Given the description of an element on the screen output the (x, y) to click on. 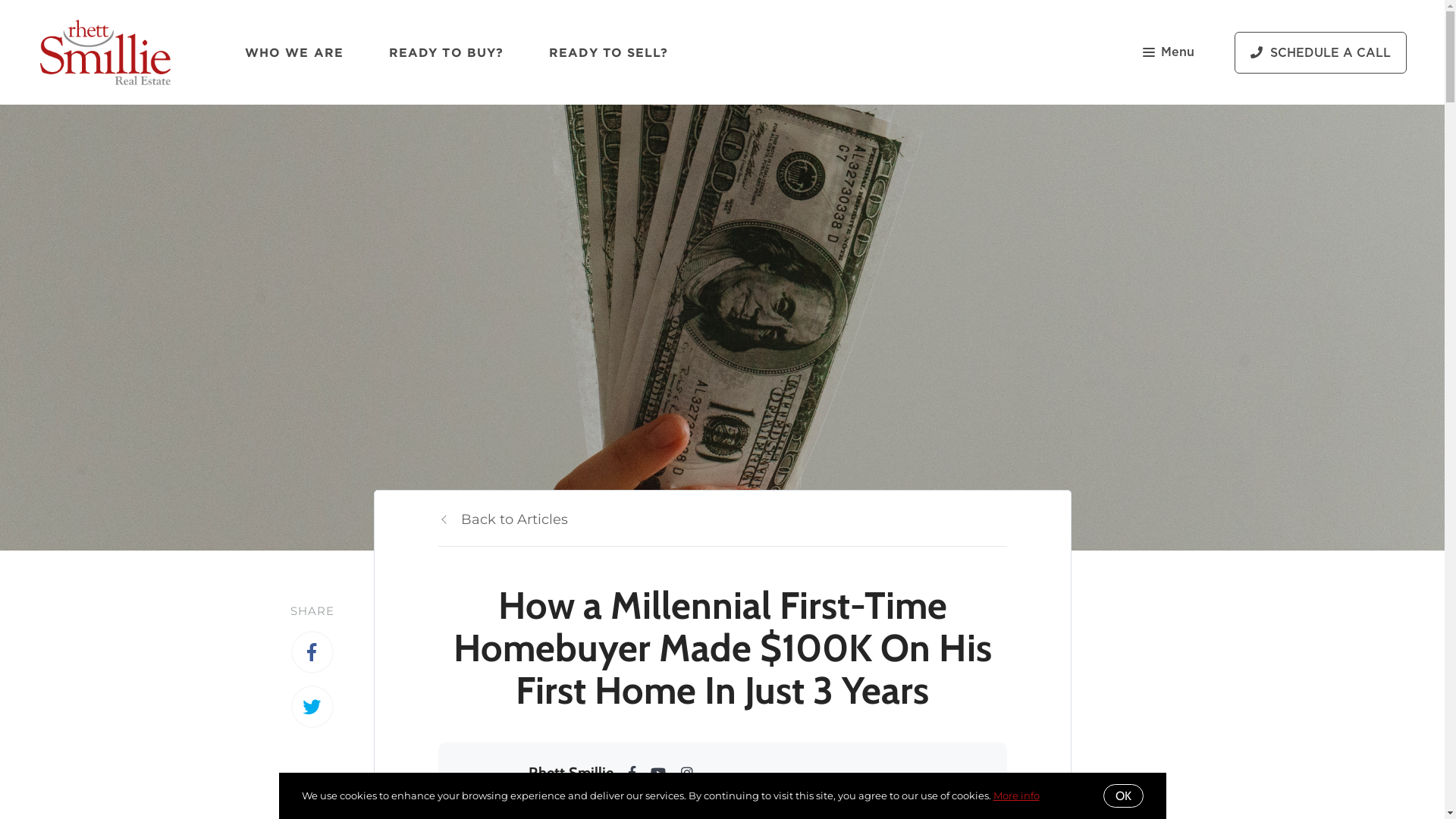
Menu Element type: text (1168, 51)
READY TO BUY? Element type: text (446, 52)
Back to Articles Element type: text (502, 519)
READY TO SELL? Element type: text (608, 52)
SCHEDULE A CALL Element type: text (1320, 52)
OK Element type: text (1122, 795)
More info Element type: text (1016, 795)
WHO WE ARE Element type: text (293, 52)
